Given the description of an element on the screen output the (x, y) to click on. 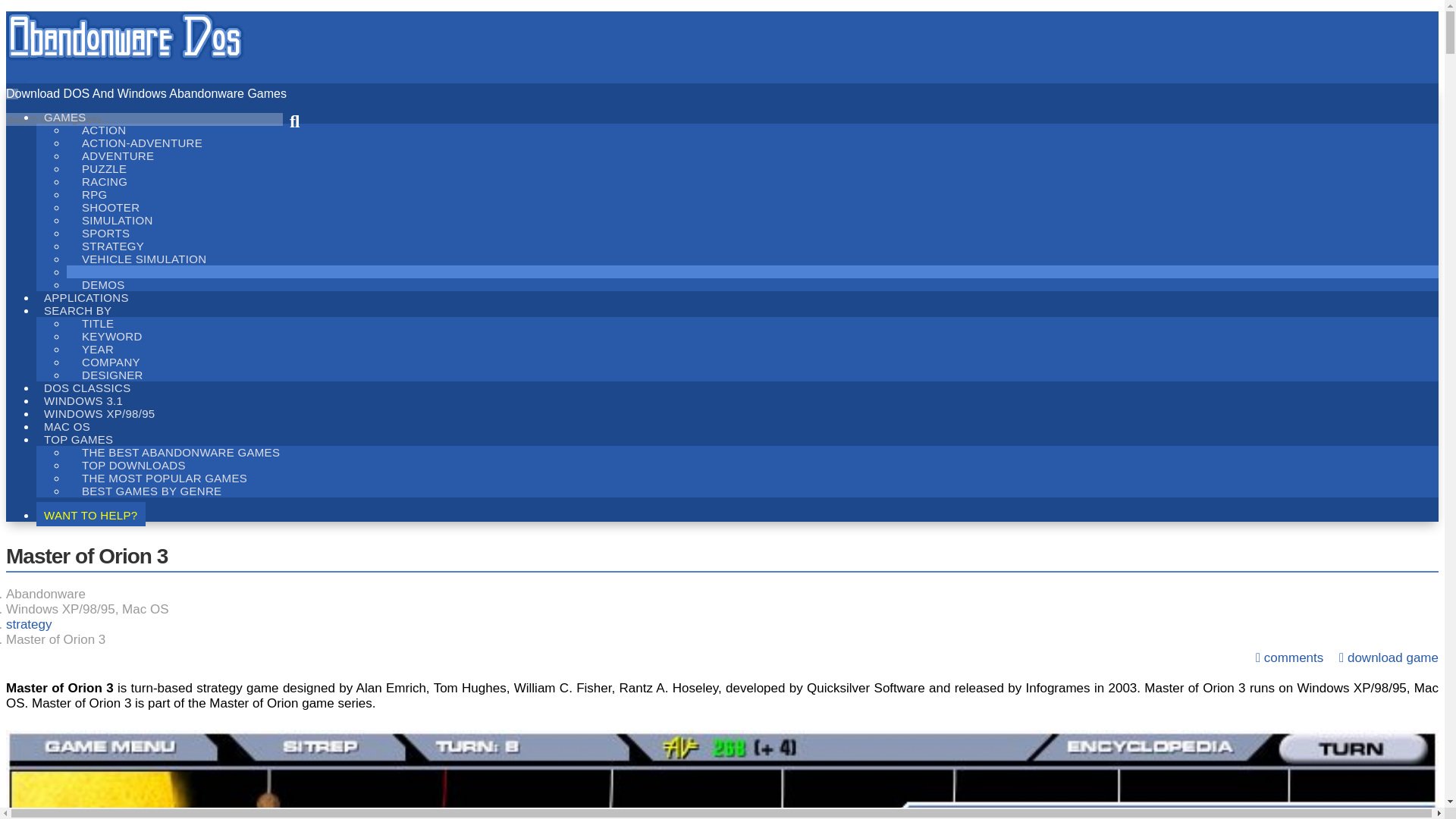
SPORTS (105, 232)
GAMES (65, 115)
ADVENTURE (117, 155)
SHOOTER (110, 207)
DESIGNER (112, 374)
RPG (94, 194)
SEARCH BY (77, 309)
VEHICLE SIMULATION (143, 258)
TOP GAMES (78, 437)
PUZZLE (103, 168)
DOS CLASSICS (87, 386)
STRATEGY (112, 245)
Toggle navigation (11, 93)
THE BEST ABANDONWARE GAMES (180, 452)
ACTION-ADVENTURE (141, 142)
